Given the description of an element on the screen output the (x, y) to click on. 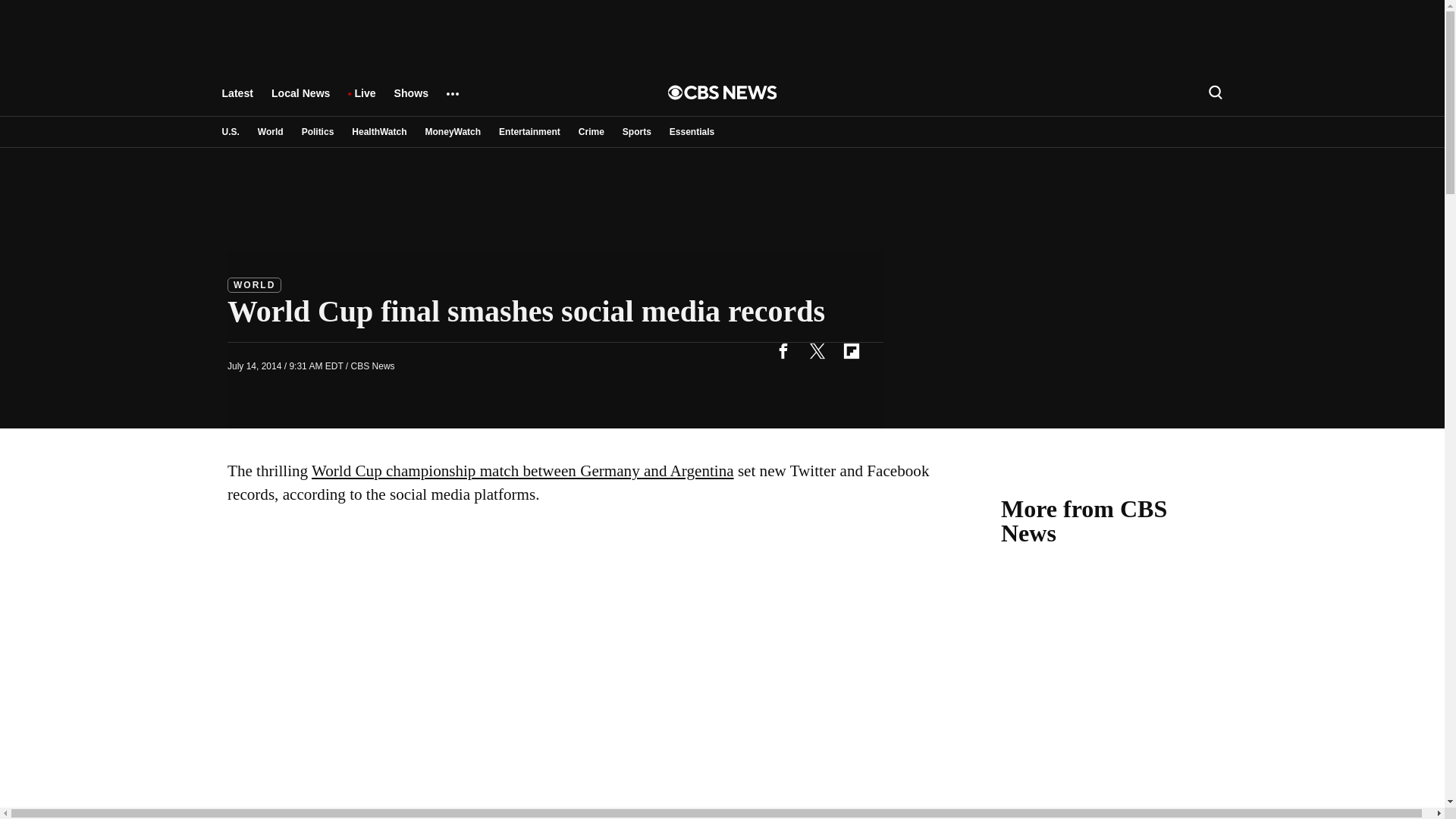
Local News (300, 100)
Latest (236, 100)
twitter (816, 350)
flipboard (850, 350)
facebook (782, 350)
